Given the description of an element on the screen output the (x, y) to click on. 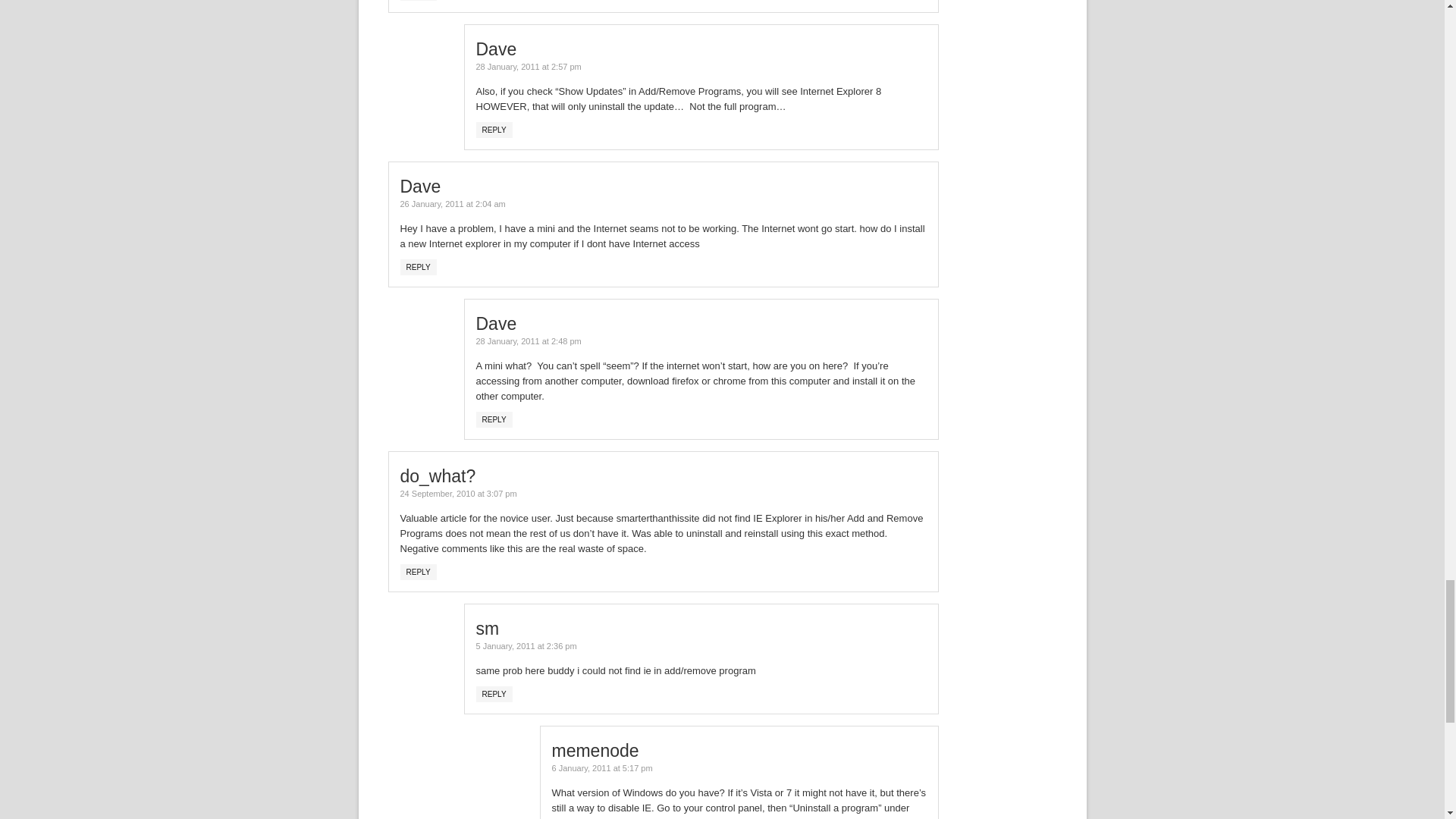
REPLY (418, 267)
REPLY (494, 693)
REPLY (494, 130)
REPLY (418, 571)
REPLY (494, 419)
